Given the description of an element on the screen output the (x, y) to click on. 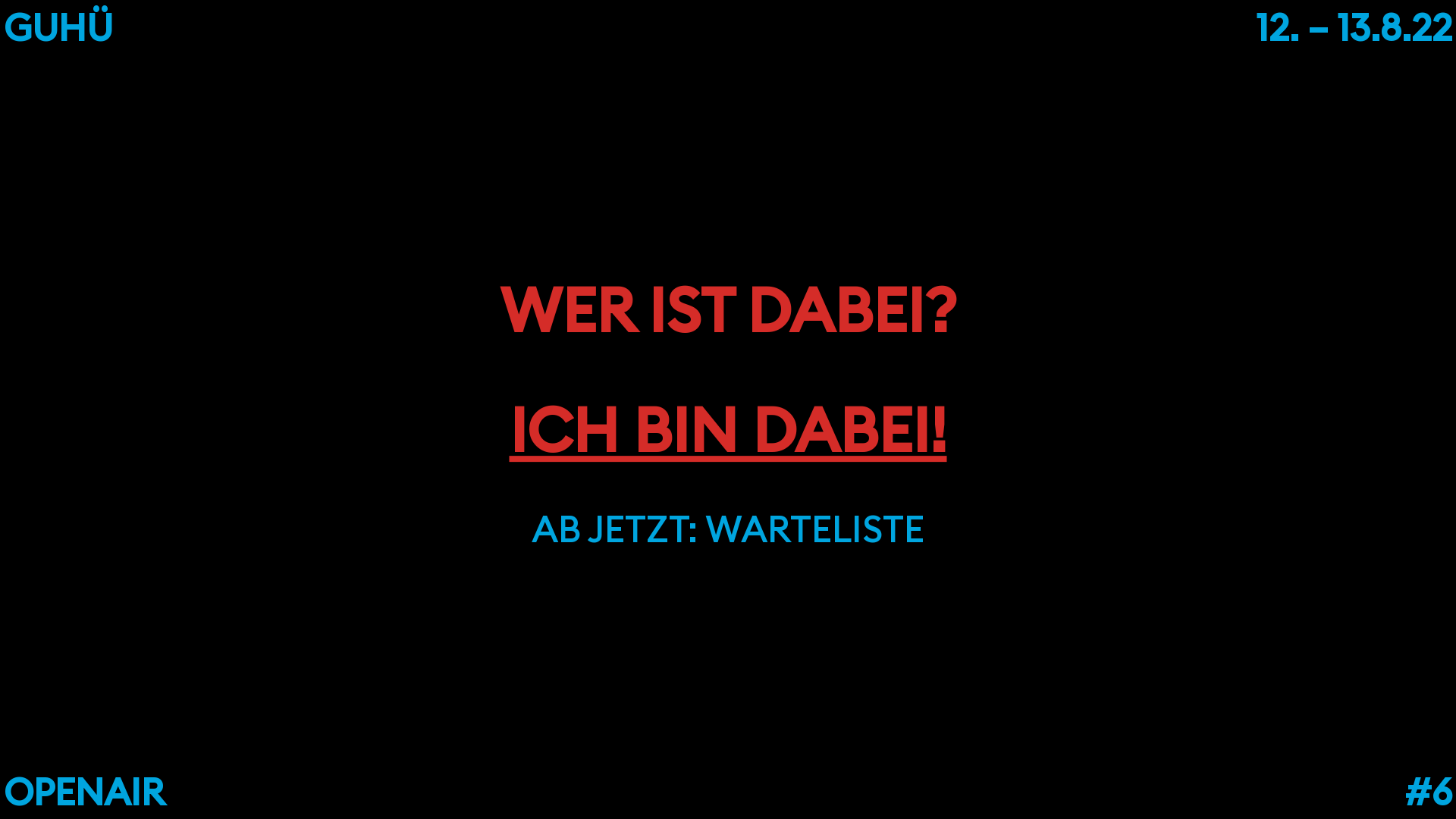
ICH BIN DABEI! Element type: text (728, 429)
